Given the description of an element on the screen output the (x, y) to click on. 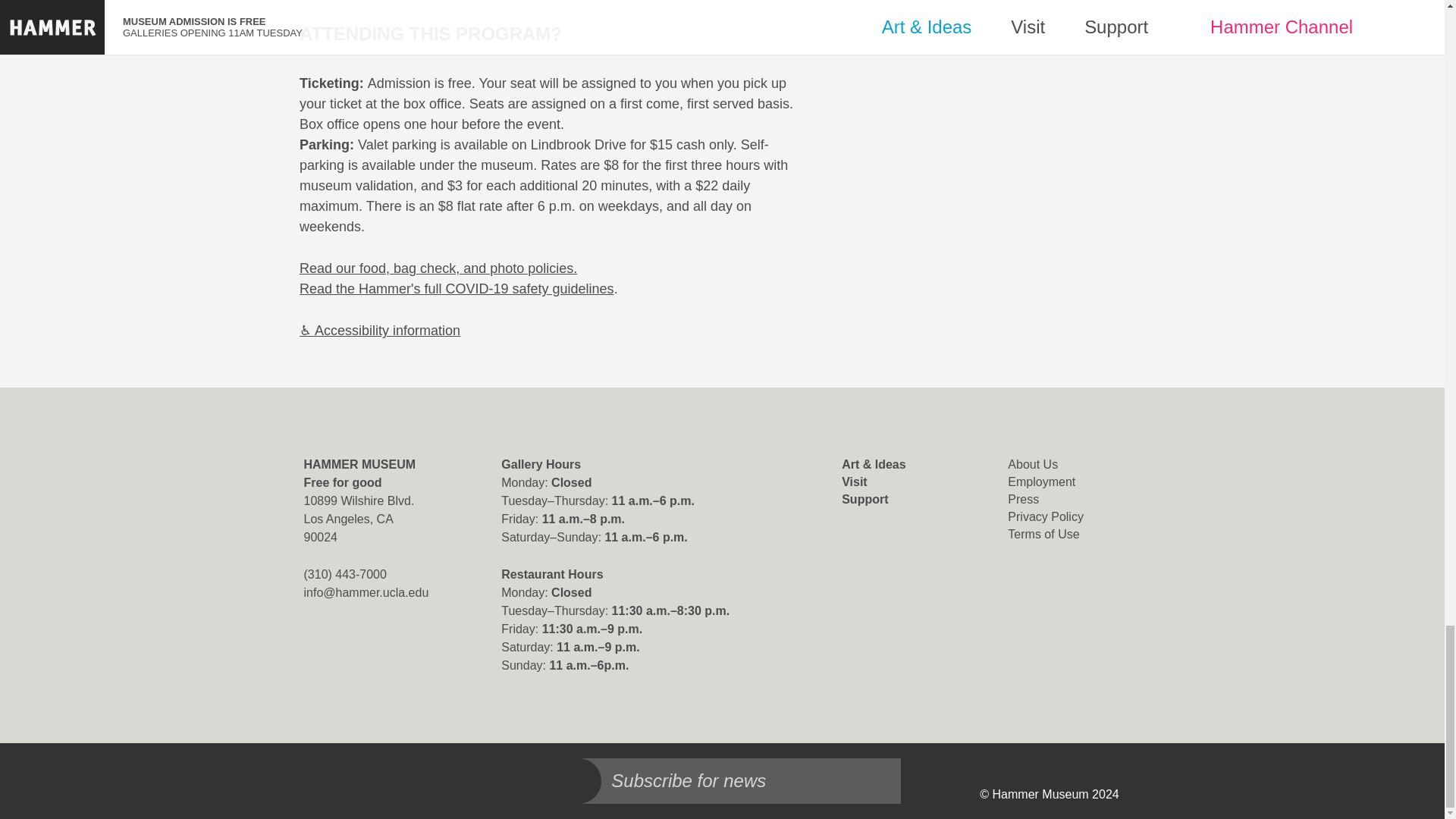
Employment Opportunities (1041, 481)
